Given the description of an element on the screen output the (x, y) to click on. 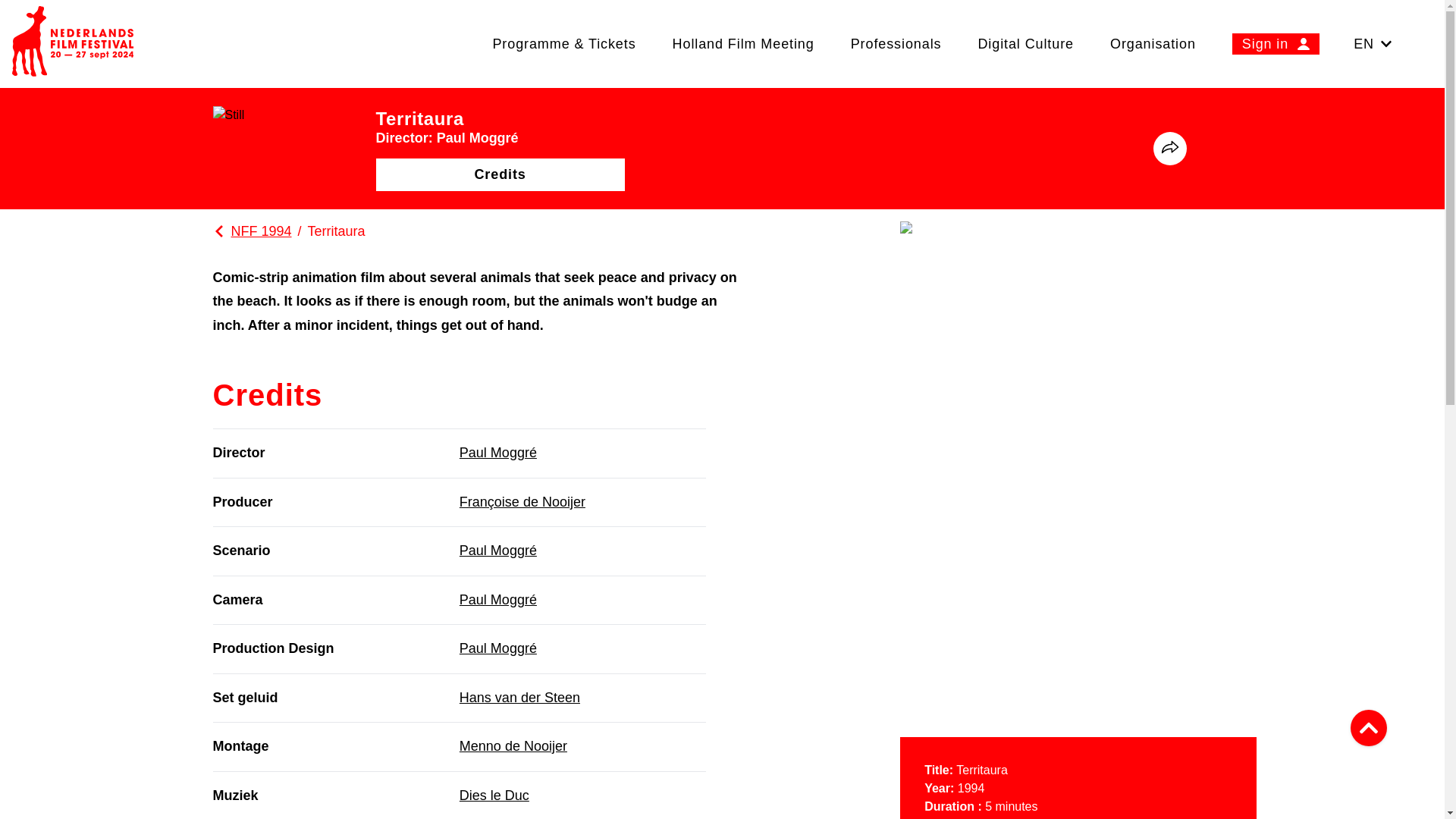
Credits (499, 174)
Holland Film Meeting (742, 43)
Holland Film Meeting (742, 43)
Organisation (1153, 43)
Digital Culture (1025, 43)
Digital Culture (1025, 43)
Professionals (895, 43)
Organisation (1153, 43)
